Given the description of an element on the screen output the (x, y) to click on. 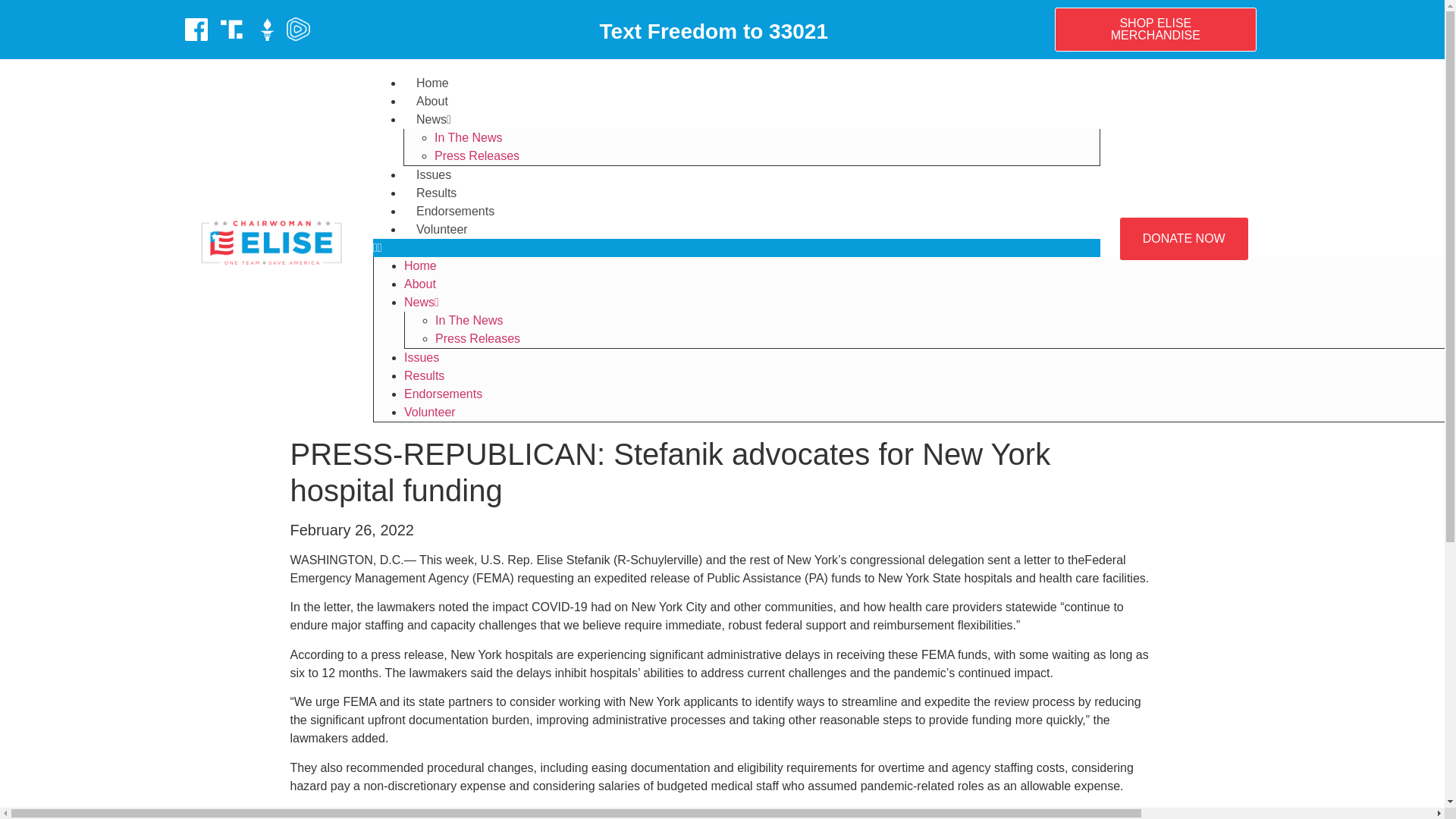
SHOP ELISE MERCHANDISE (1155, 29)
About (419, 283)
News (433, 119)
About (432, 101)
Home (420, 265)
Issues (433, 174)
Volunteer (441, 228)
Volunteer (429, 411)
Endorsements (454, 210)
In The News (467, 137)
